Given the description of an element on the screen output the (x, y) to click on. 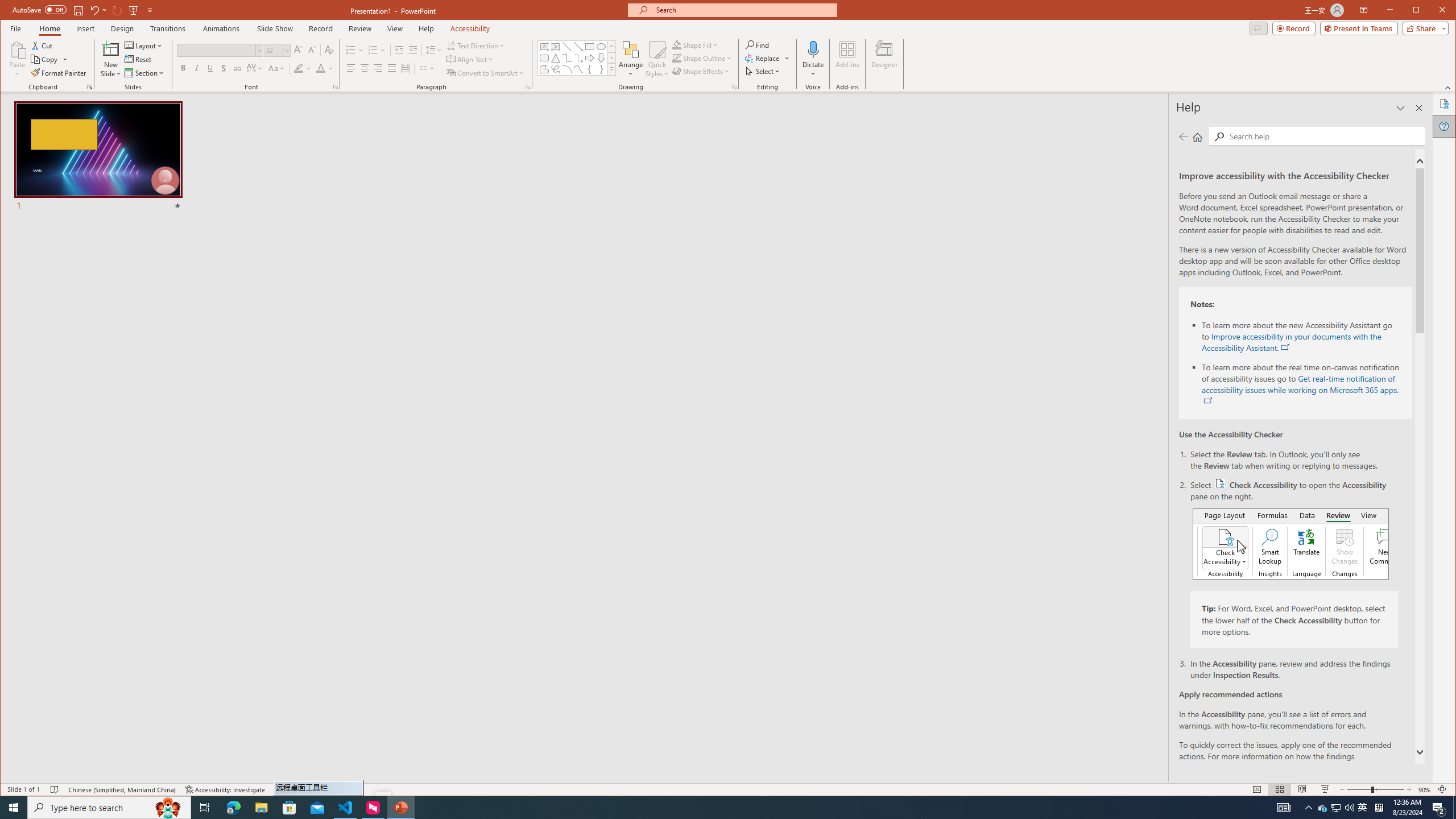
Decrease Font Size (311, 49)
Line Arrow (577, 46)
Action Center, 2 new notifications (1439, 807)
Arrow: Down (601, 57)
Font Color (324, 68)
